Given the description of an element on the screen output the (x, y) to click on. 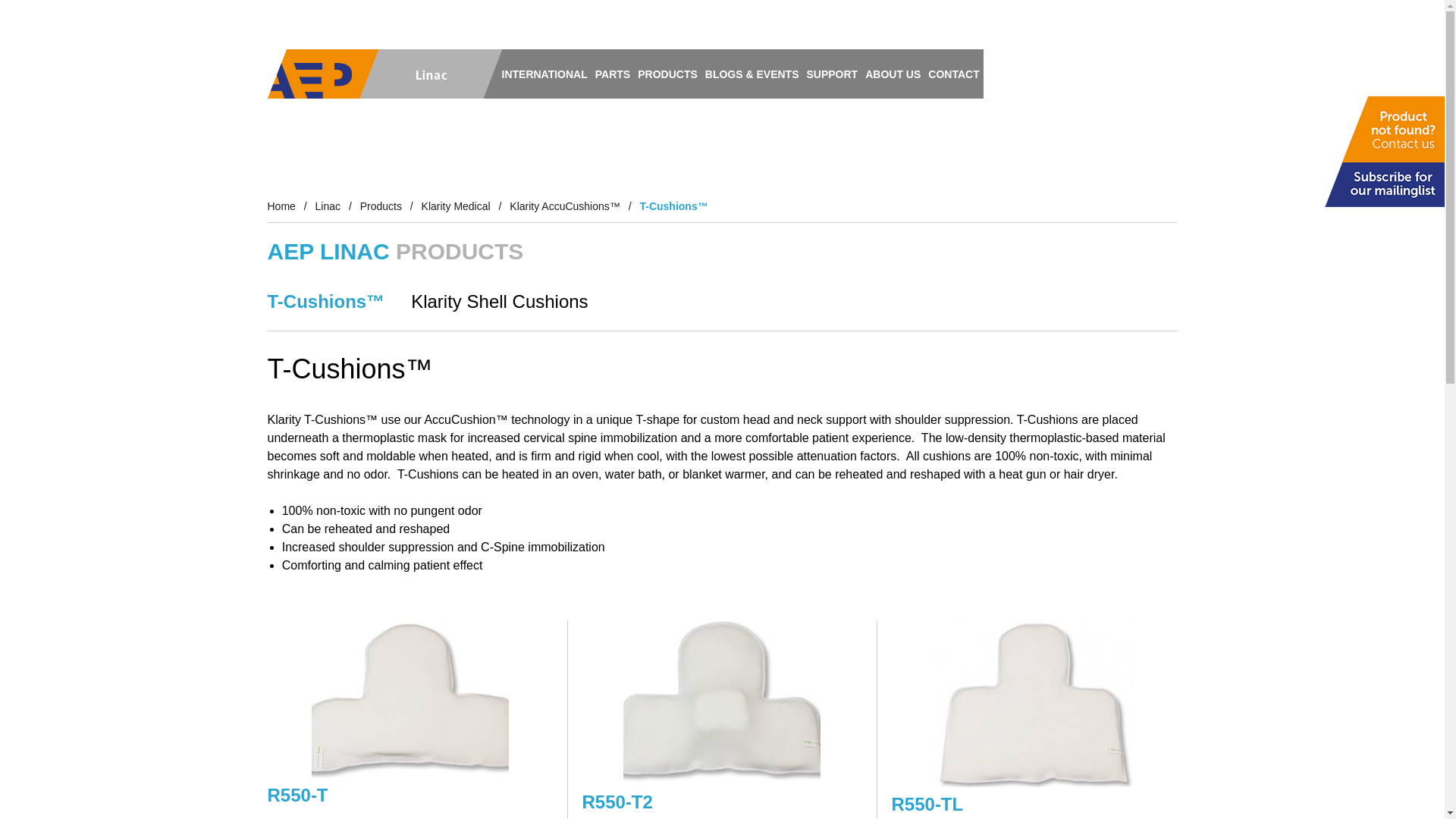
R550-T (408, 795)
SUPPORT (831, 73)
PRODUCTS (667, 73)
Klarity Shell Cushions (512, 301)
Linac (373, 73)
Products (380, 205)
Klarity Medical (456, 205)
CONTACT (953, 73)
INTERNATIONAL (544, 73)
Linac (327, 205)
ABOUT US (892, 73)
Home (280, 205)
